Given the description of an element on the screen output the (x, y) to click on. 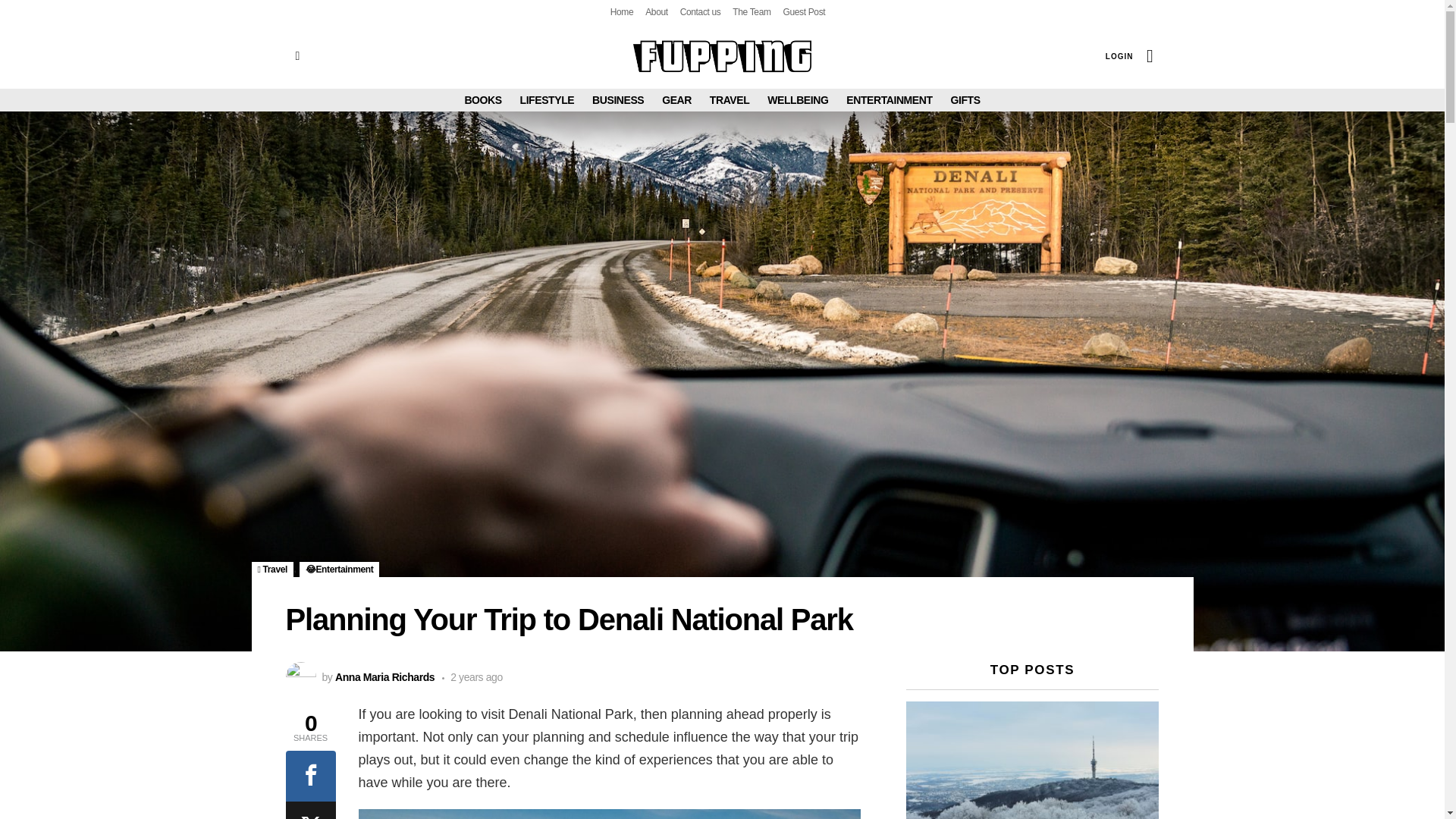
Posts by Anna Maria Richards (383, 676)
BUSINESS (617, 99)
August 30, 2022, 3:11 am (472, 676)
Guest Post (804, 12)
Menu (296, 55)
Contact us (699, 12)
ENTERTAINMENT (888, 99)
LIFESTYLE (547, 99)
LOGIN (1119, 56)
GEAR (675, 99)
BOOKS (482, 99)
TRAVEL (729, 99)
About (656, 12)
Anna Maria Richards (383, 676)
GIFTS (964, 99)
